Given the description of an element on the screen output the (x, y) to click on. 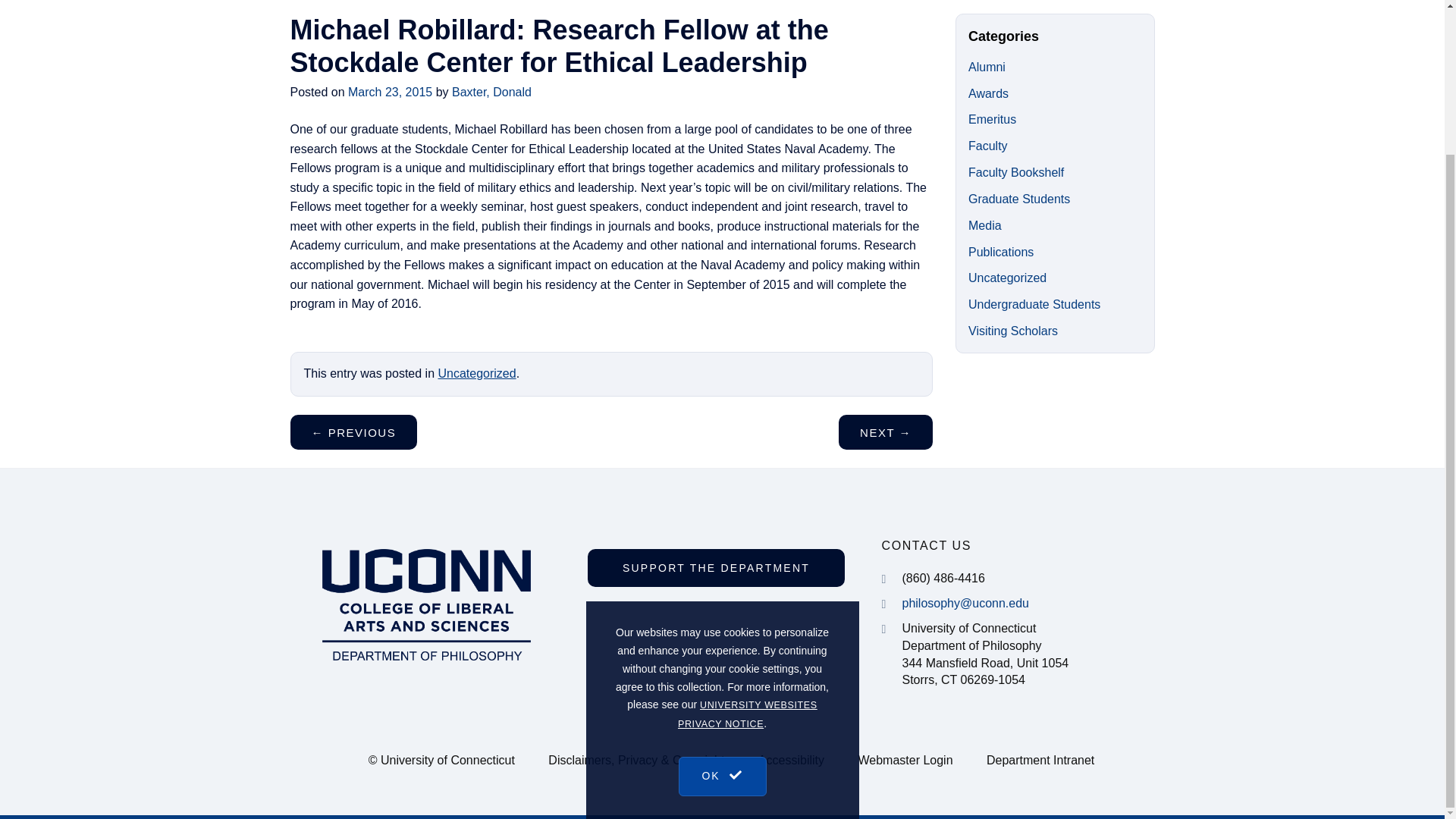
UNIVERSITY WEBSITES PRIVACY NOTICE (747, 704)
OK (721, 749)
Posts by Baxter, Donald (491, 91)
